Given the description of an element on the screen output the (x, y) to click on. 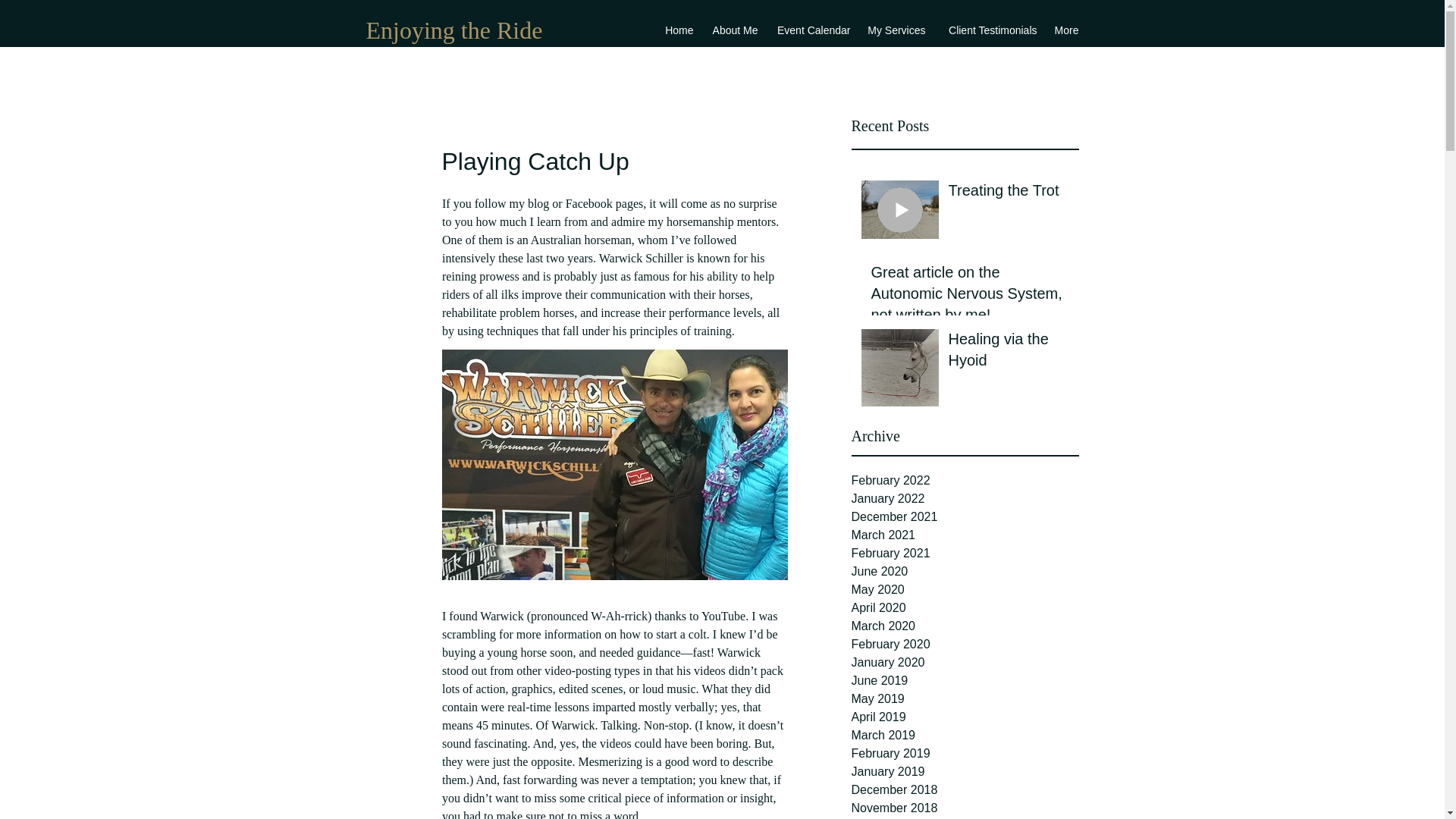
February 2022 (964, 480)
Home (678, 29)
May 2019 (964, 699)
Healing via the Hyoid (1007, 352)
Event Calendar (812, 29)
January 2022 (964, 498)
Client Testimonials (988, 29)
June 2019 (964, 680)
April 2020 (964, 607)
